Given the description of an element on the screen output the (x, y) to click on. 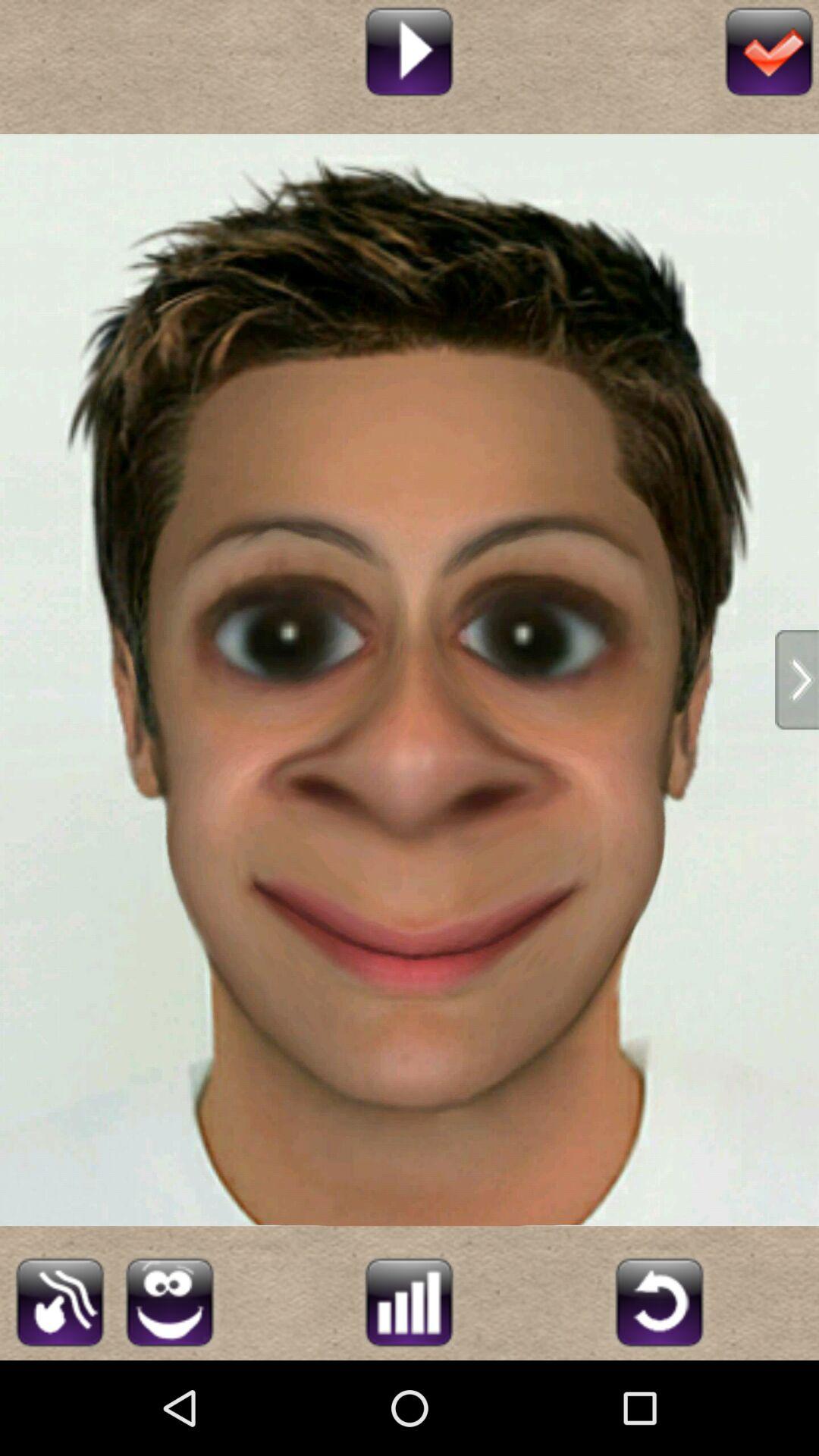
turn off the item at the top right corner (769, 49)
